Given the description of an element on the screen output the (x, y) to click on. 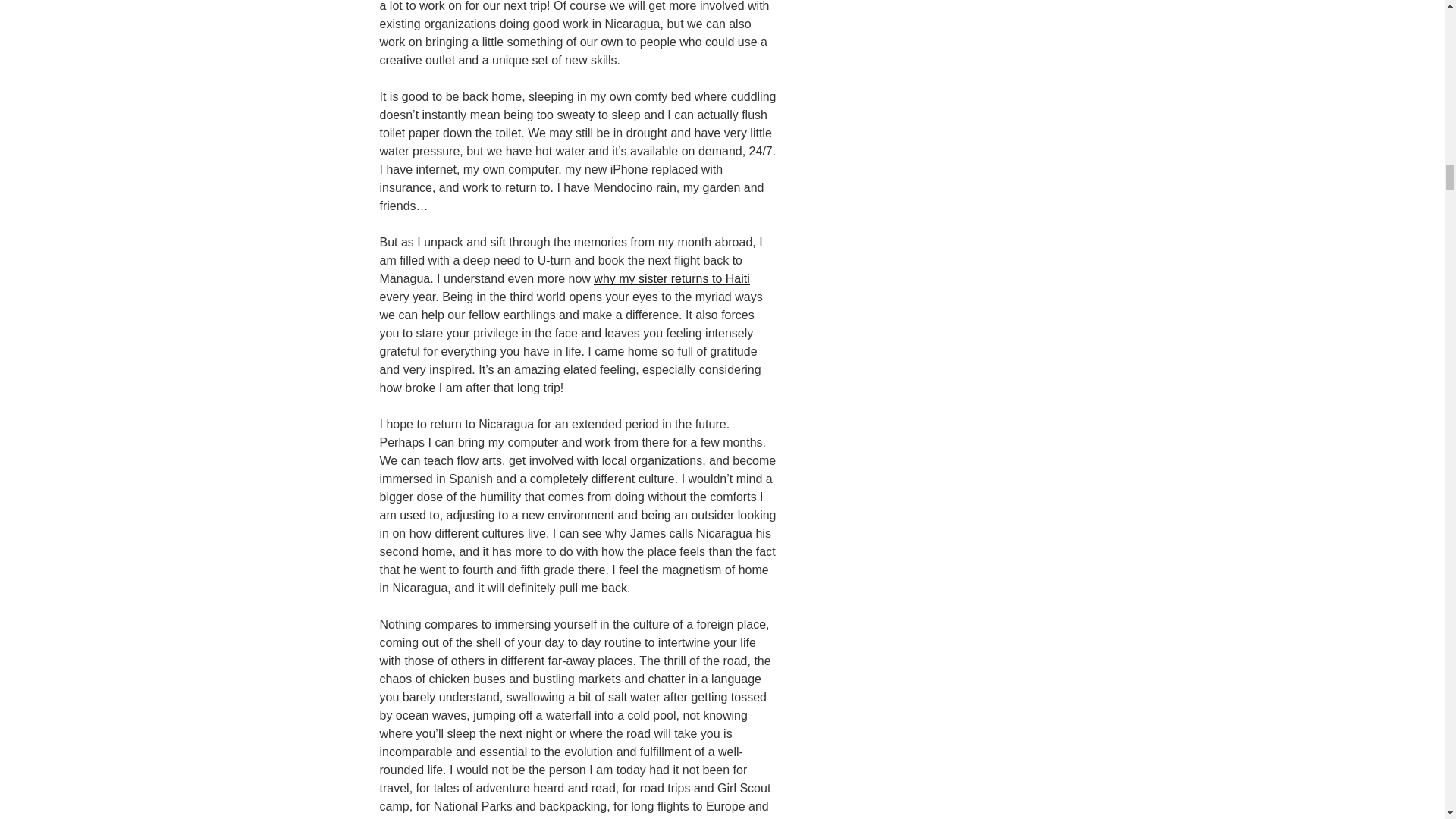
why my sister returns to Haiti (671, 278)
